Given the description of an element on the screen output the (x, y) to click on. 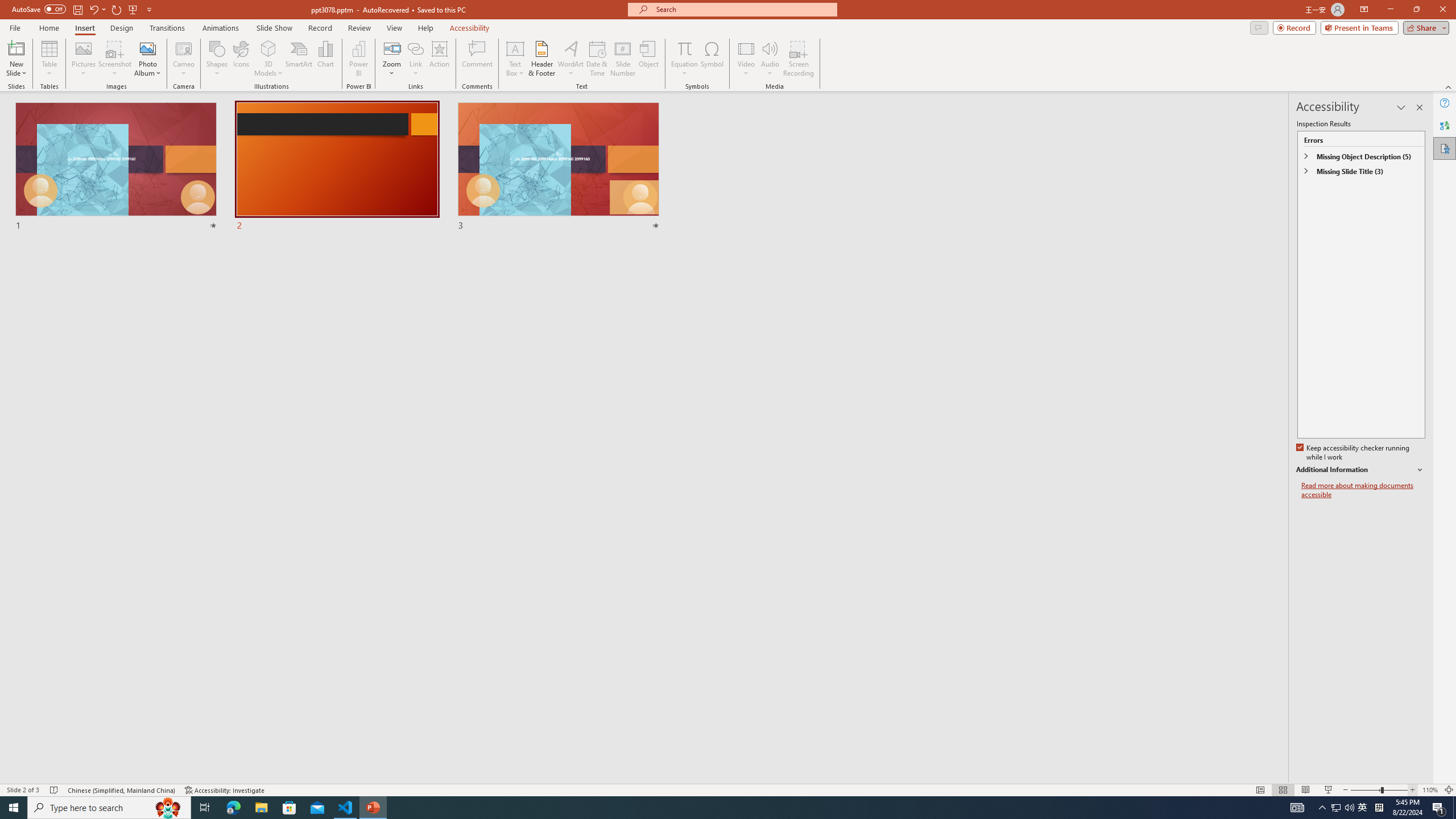
Draw Horizontal Text Box (515, 48)
Ribbon Display Options (1364, 9)
Header & Footer... (541, 58)
Transitions (167, 28)
Redo (117, 9)
SmartArt... (298, 58)
Spell Check No Errors (54, 790)
Home (48, 28)
More Options (683, 68)
Action (439, 58)
Collapse the Ribbon (1448, 86)
Slide Sorter (1282, 790)
File Tab (15, 27)
